Given the description of an element on the screen output the (x, y) to click on. 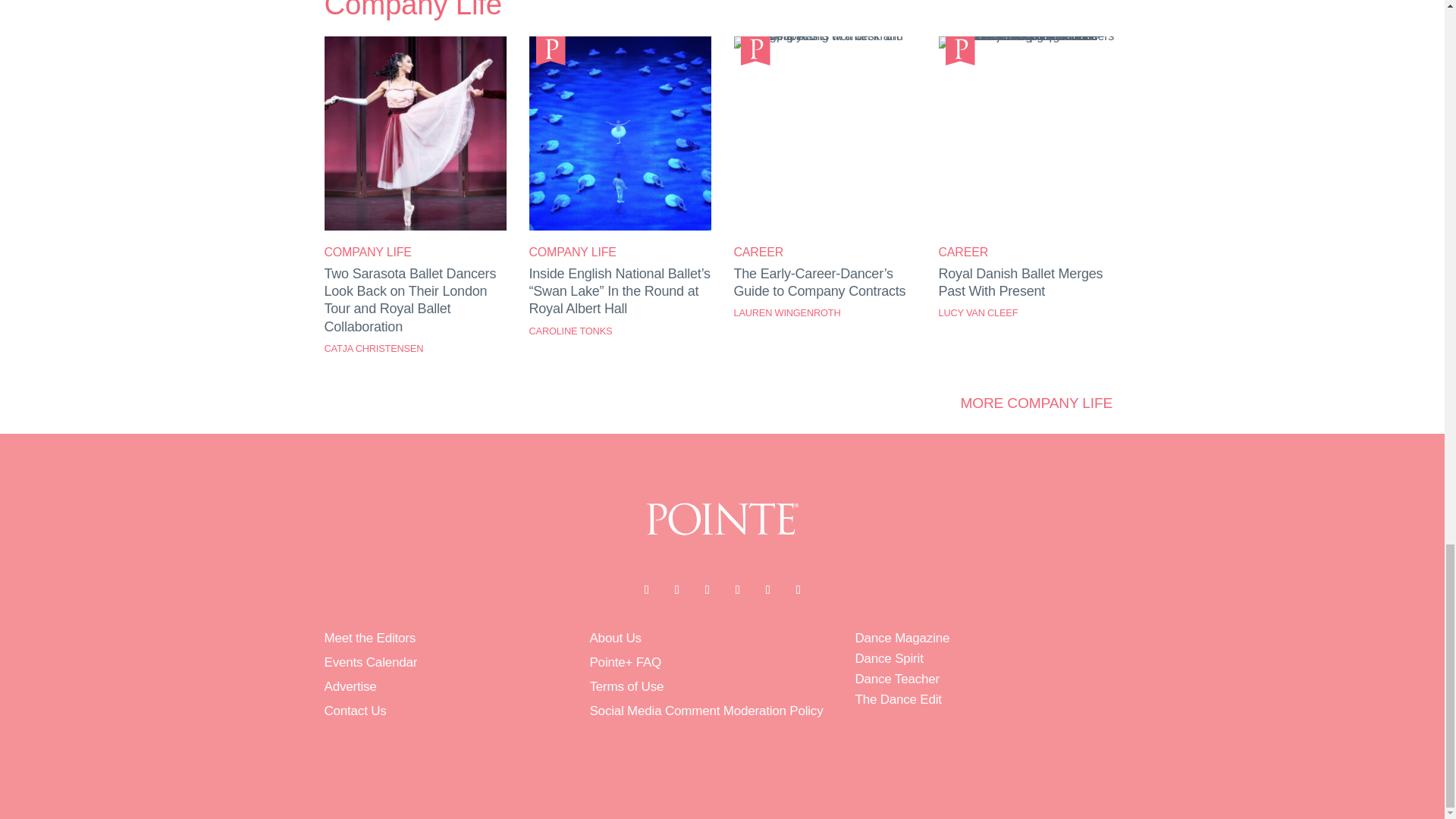
Follow on Pinterest (766, 589)
Follow on Instagram (706, 589)
Follow on Facebook (645, 589)
Follow on Youtube (737, 589)
Royal Danish Ballet Merges Past With Present (1030, 35)
Follow on Twitter (675, 589)
